Given the description of an element on the screen output the (x, y) to click on. 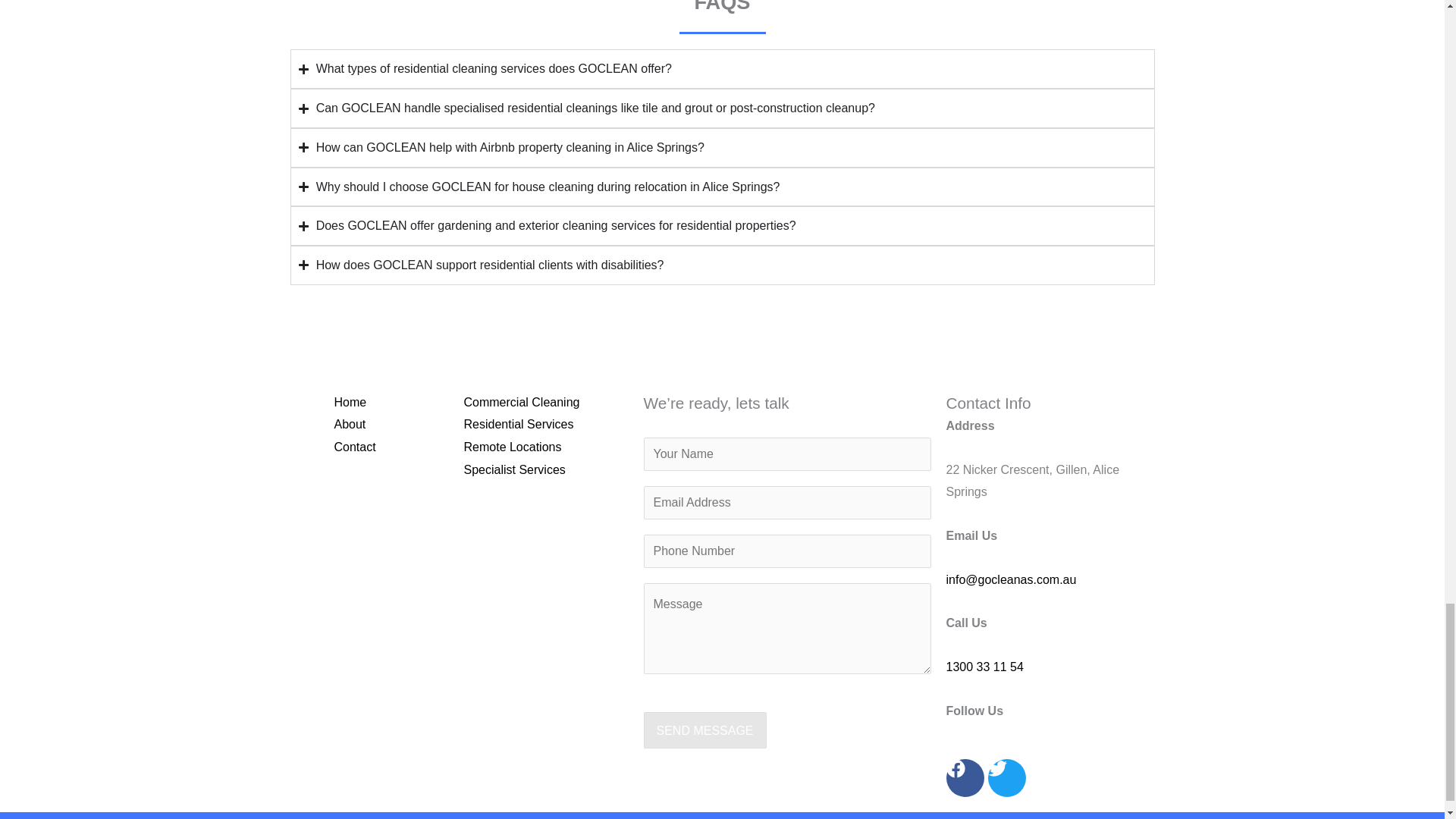
Residential Services (518, 423)
About (349, 423)
Specialist Services (515, 469)
Contact (354, 446)
Home (349, 401)
Remote Locations (513, 446)
Commercial Cleaning (521, 401)
